Given the description of an element on the screen output the (x, y) to click on. 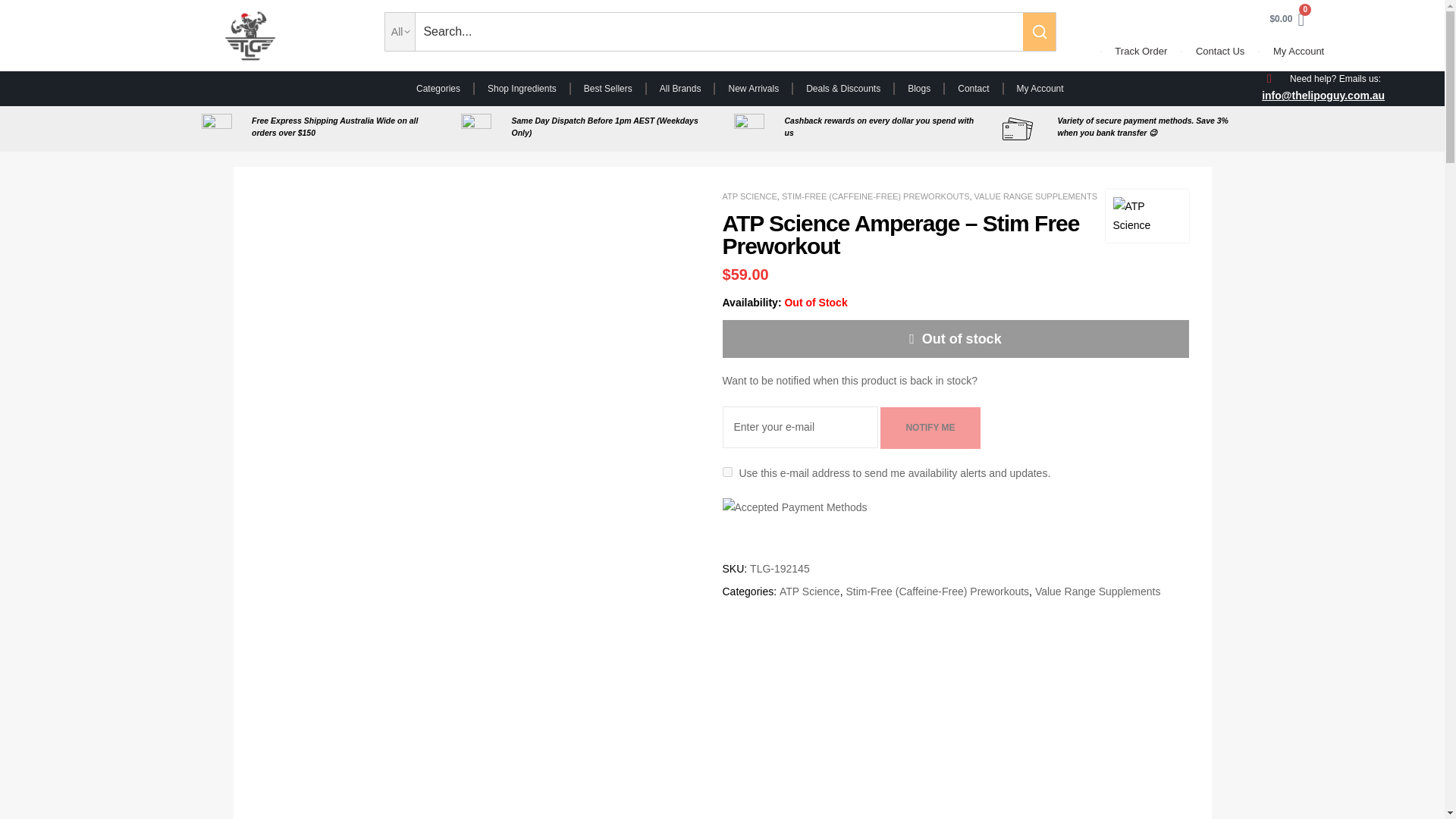
on (727, 471)
Search... (718, 31)
Search... (718, 31)
